Given the description of an element on the screen output the (x, y) to click on. 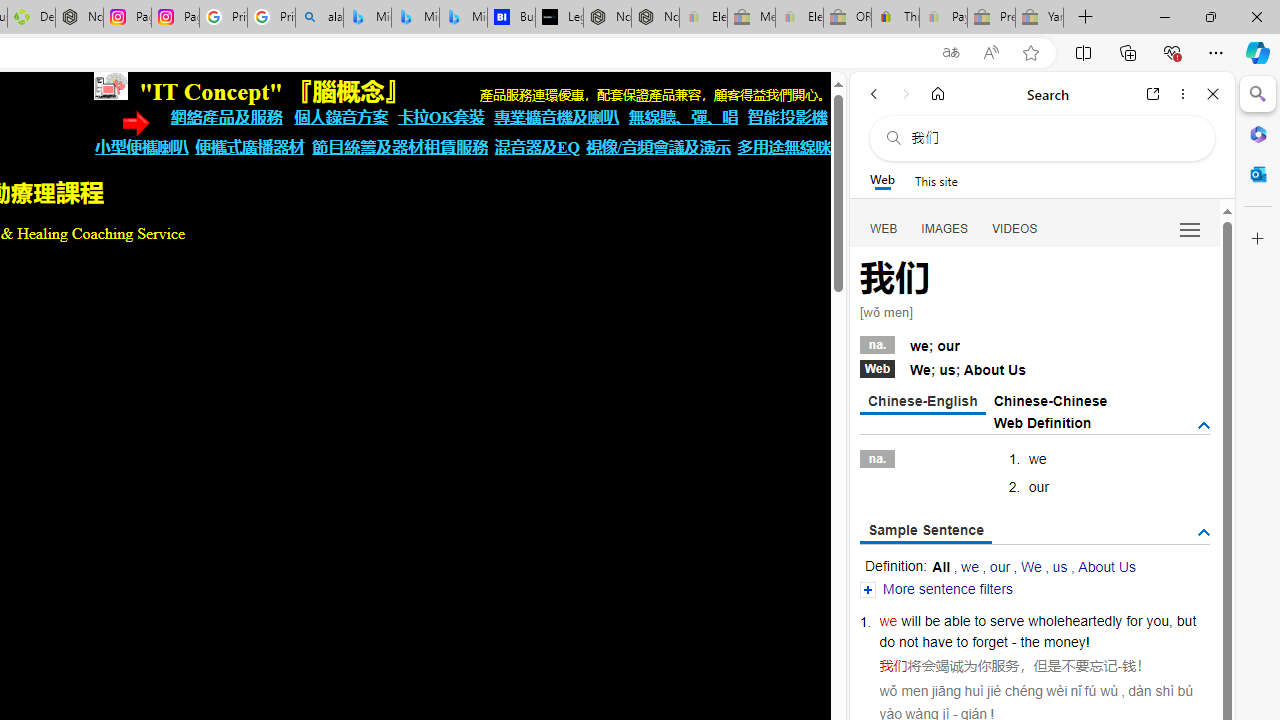
AutomationID: tgdef_sen (1203, 533)
About (983, 370)
Search the web (1051, 137)
alabama high school quarterback dies - Search (319, 17)
Preferences (1189, 228)
AutomationID: tgdef (1203, 425)
but (1186, 620)
our (1000, 566)
WebWe; us; About Us (1034, 367)
Show translate options (950, 53)
